Given the description of an element on the screen output the (x, y) to click on. 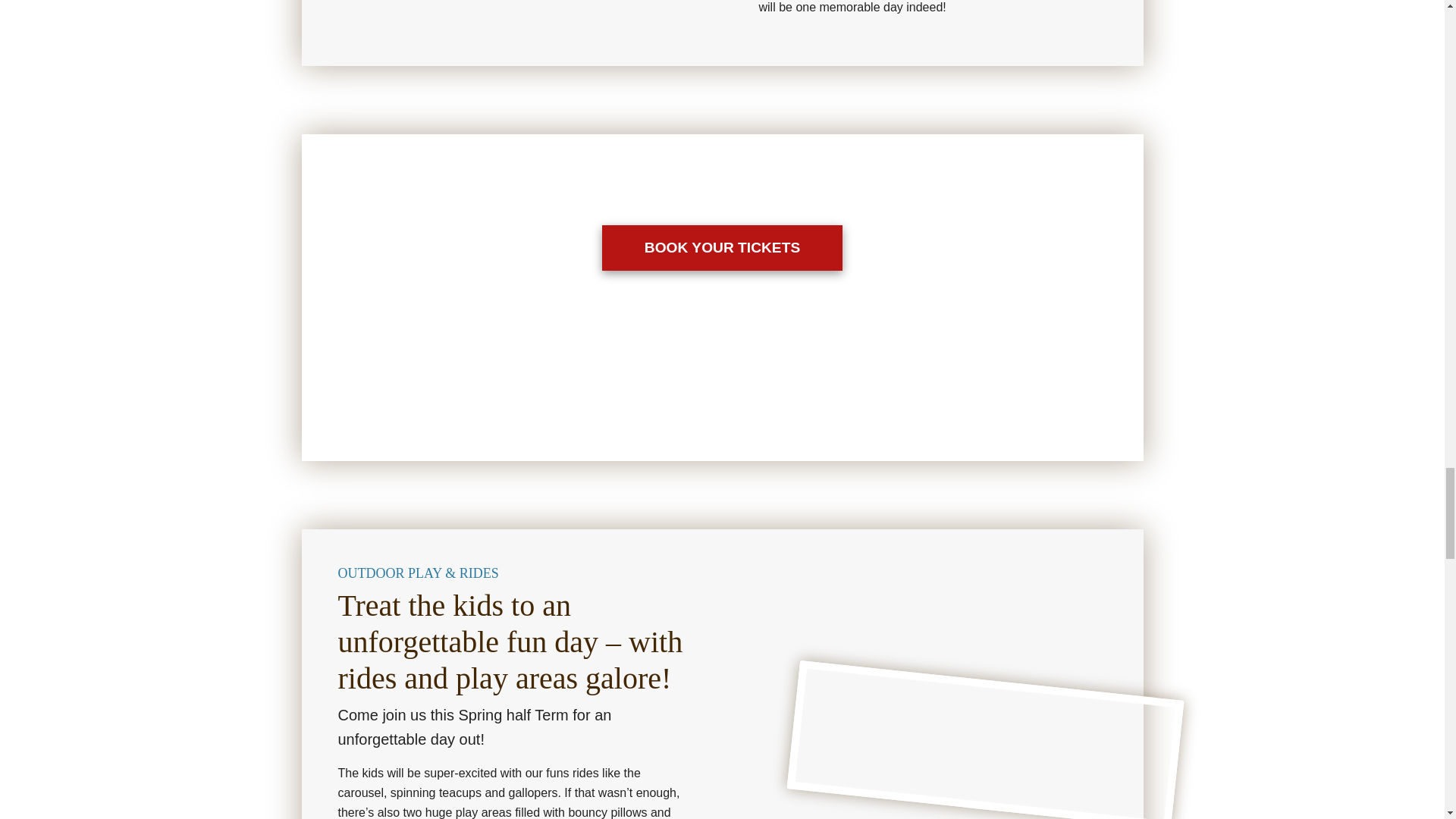
BOOK YOUR TICKETS (722, 248)
